Given the description of an element on the screen output the (x, y) to click on. 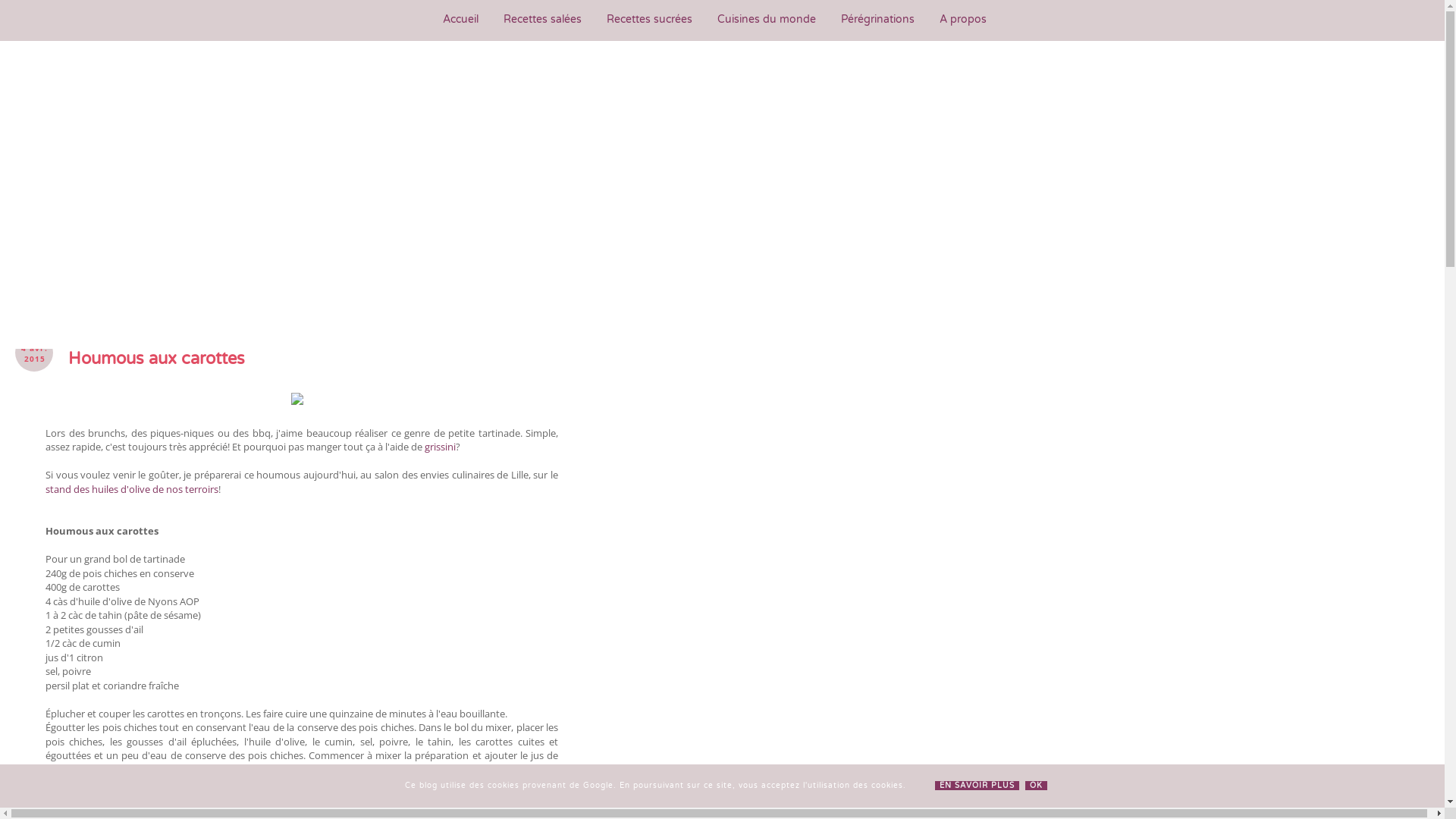
A propos Element type: text (962, 18)
EN SAVOIR PLUS Element type: text (977, 785)
stand des huiles d'olive de nos terroirs Element type: text (131, 488)
Accueil Element type: text (460, 18)
Cuisines du monde Element type: text (766, 18)
grissini Element type: text (439, 446)
OK Element type: text (1036, 785)
